Given the description of an element on the screen output the (x, y) to click on. 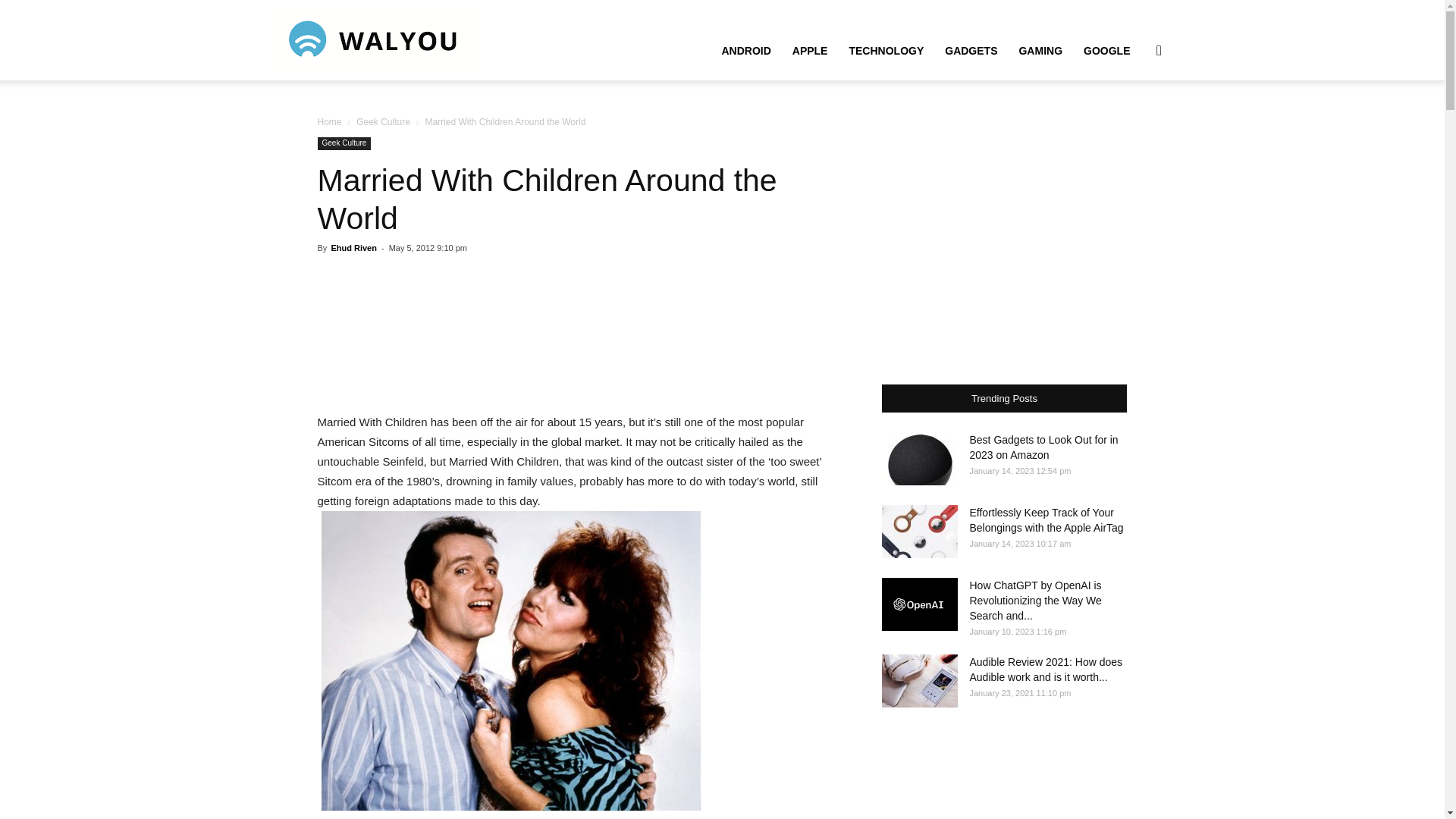
Geek Culture (383, 122)
GADGETS (970, 50)
GOOGLE (1106, 50)
Advertisement (580, 333)
ANDROID (745, 50)
Geek Culture (344, 143)
Walyou (373, 39)
TECHNOLOGY (886, 50)
GAMING (1040, 50)
APPLE (809, 50)
